Given the description of an element on the screen output the (x, y) to click on. 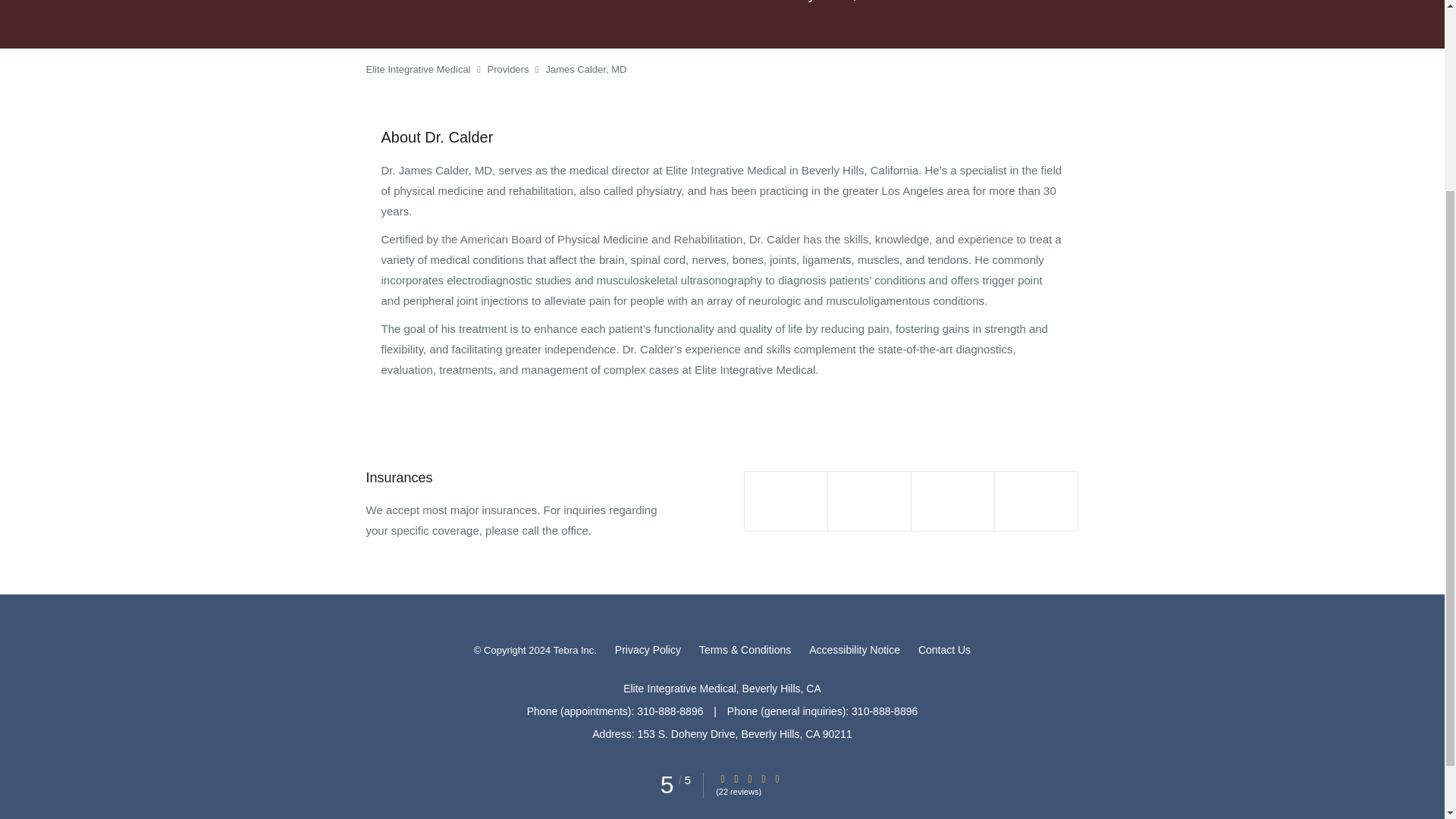
Cigna (952, 501)
Contact Us (944, 649)
Star Rating (777, 778)
Tebra Inc (573, 650)
James Calder, MD (585, 69)
Providers (508, 69)
Aetna (786, 501)
Blue Cross Blue Shield (869, 501)
Accessibility Notice (854, 649)
Privacy Policy (647, 649)
Star Rating (763, 778)
Star Rating (735, 778)
Elite Integrative Medical (417, 69)
Star Rating (749, 778)
United Health Care (1036, 501)
